Given the description of an element on the screen output the (x, y) to click on. 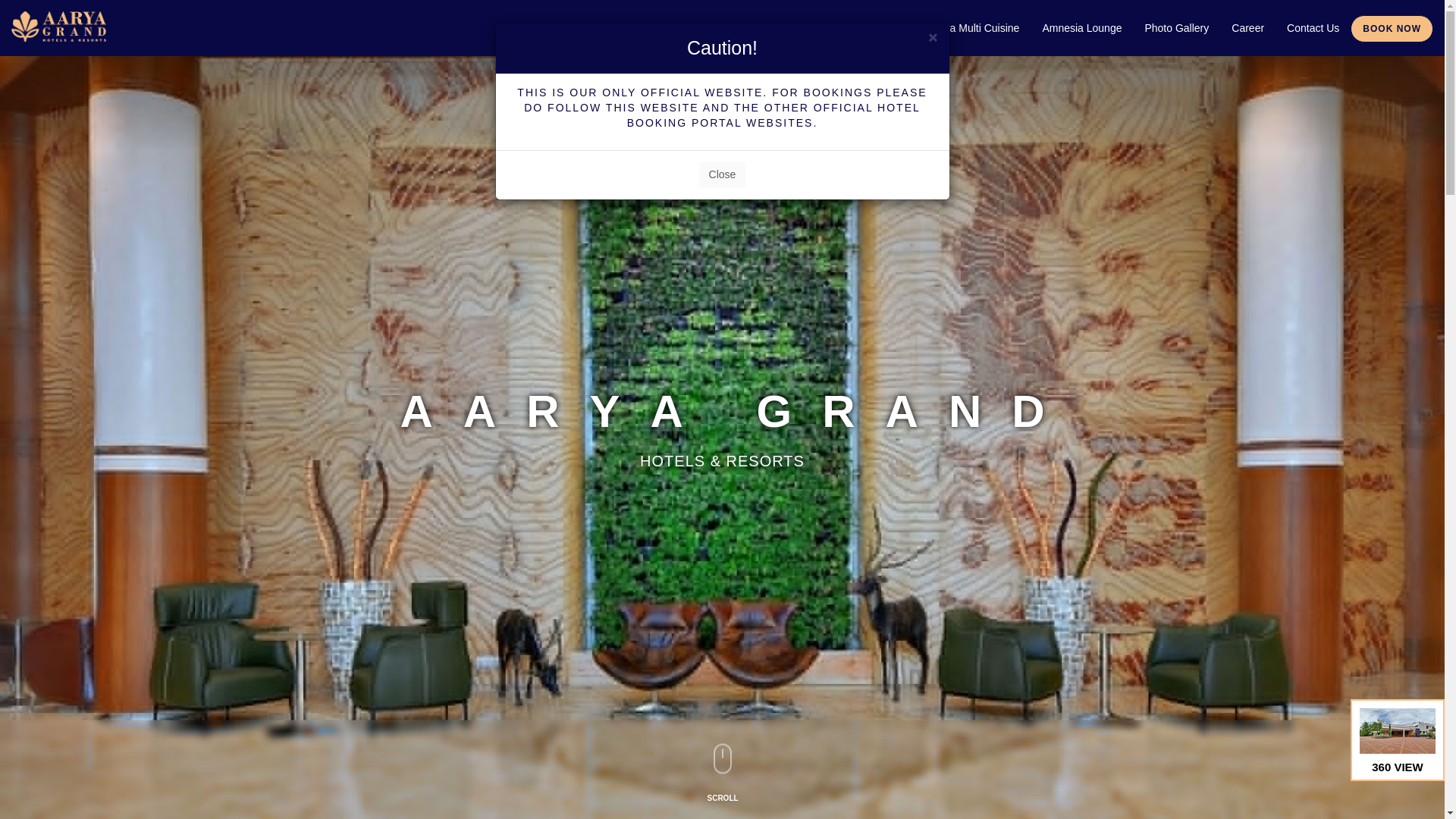
BOOK NOW (1391, 28)
Career (1247, 28)
Home (614, 28)
Amazon Cafeteria (866, 28)
Ariva Multi Cuisine (975, 28)
Photo Gallery (1176, 28)
360 VIEW (1397, 750)
Contact Us (1313, 28)
Amnesia Lounge (1081, 28)
About Us (674, 28)
